Given the description of an element on the screen output the (x, y) to click on. 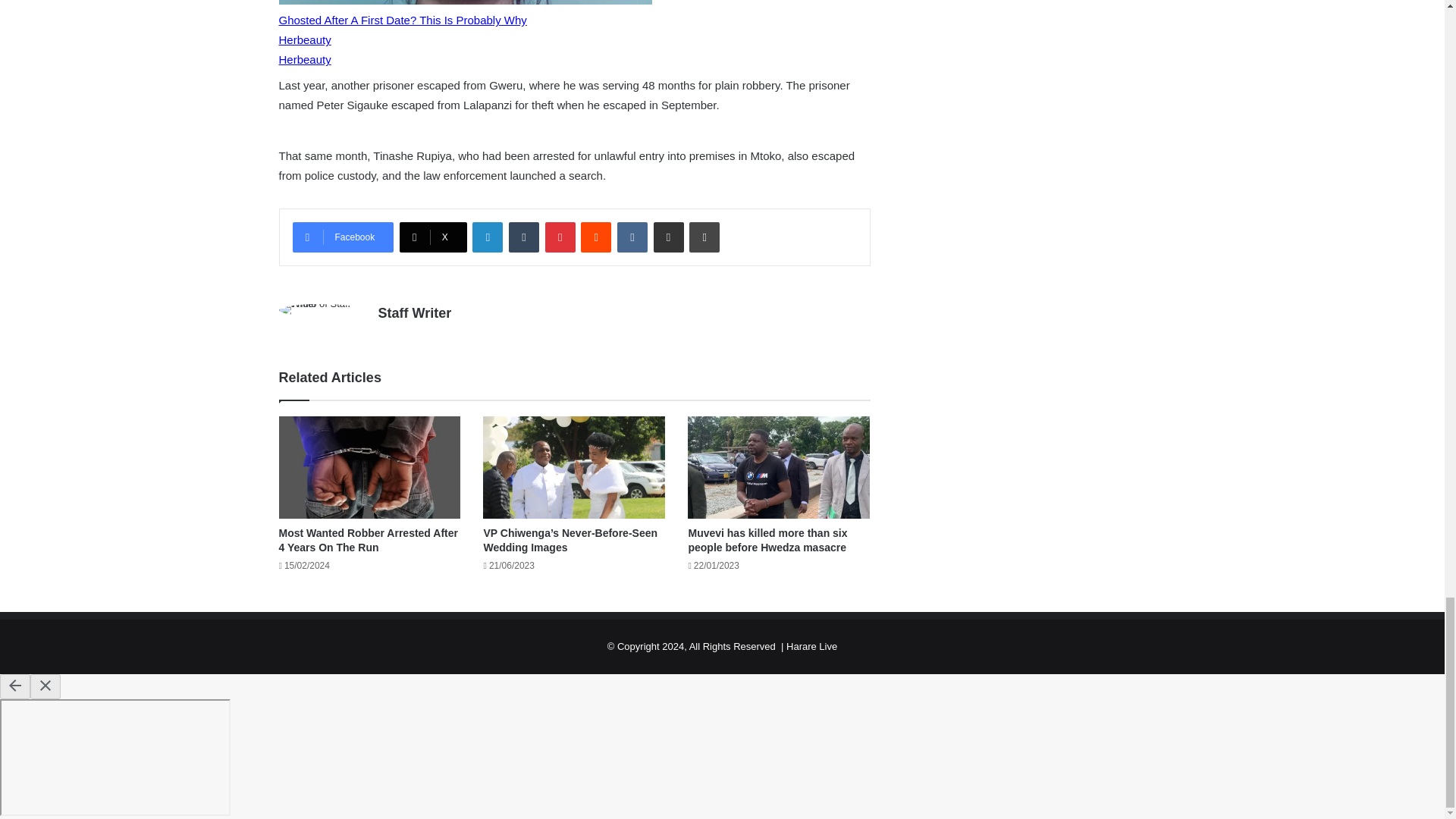
Share via Email (668, 236)
Print (703, 236)
Pinterest (559, 236)
X (432, 236)
LinkedIn (486, 236)
Facebook (343, 236)
Facebook (343, 236)
Staff Writer (414, 313)
Tumblr (523, 236)
Reddit (595, 236)
VKontakte (632, 236)
Most Wanted Robber Arrested After 4 Years On The Run (368, 540)
